Given the description of an element on the screen output the (x, y) to click on. 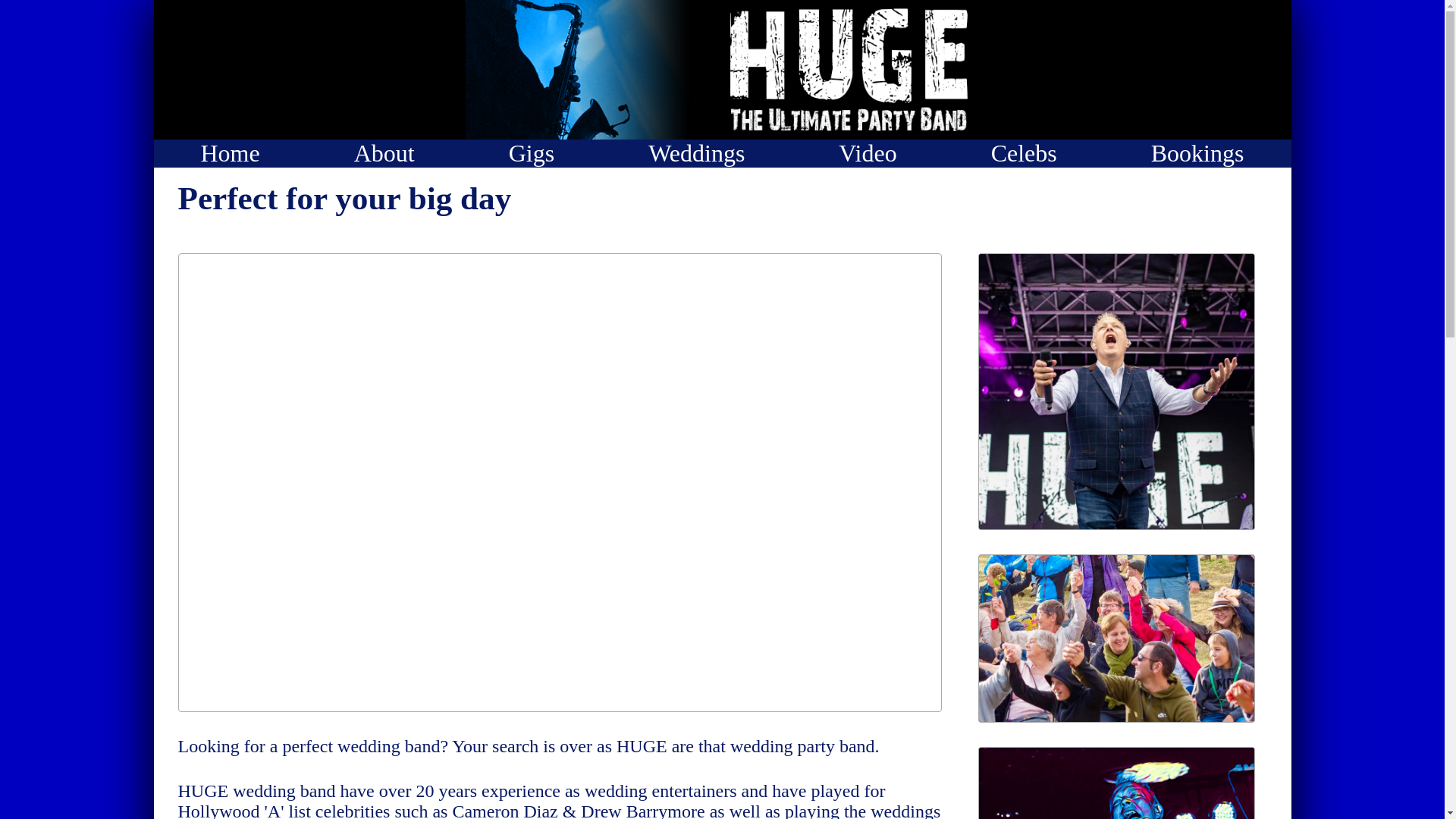
Gigs (531, 153)
About (383, 153)
Bookings (1197, 153)
Home (229, 153)
Weddings (695, 153)
Celebs (1024, 153)
Video (867, 153)
